Given the description of an element on the screen output the (x, y) to click on. 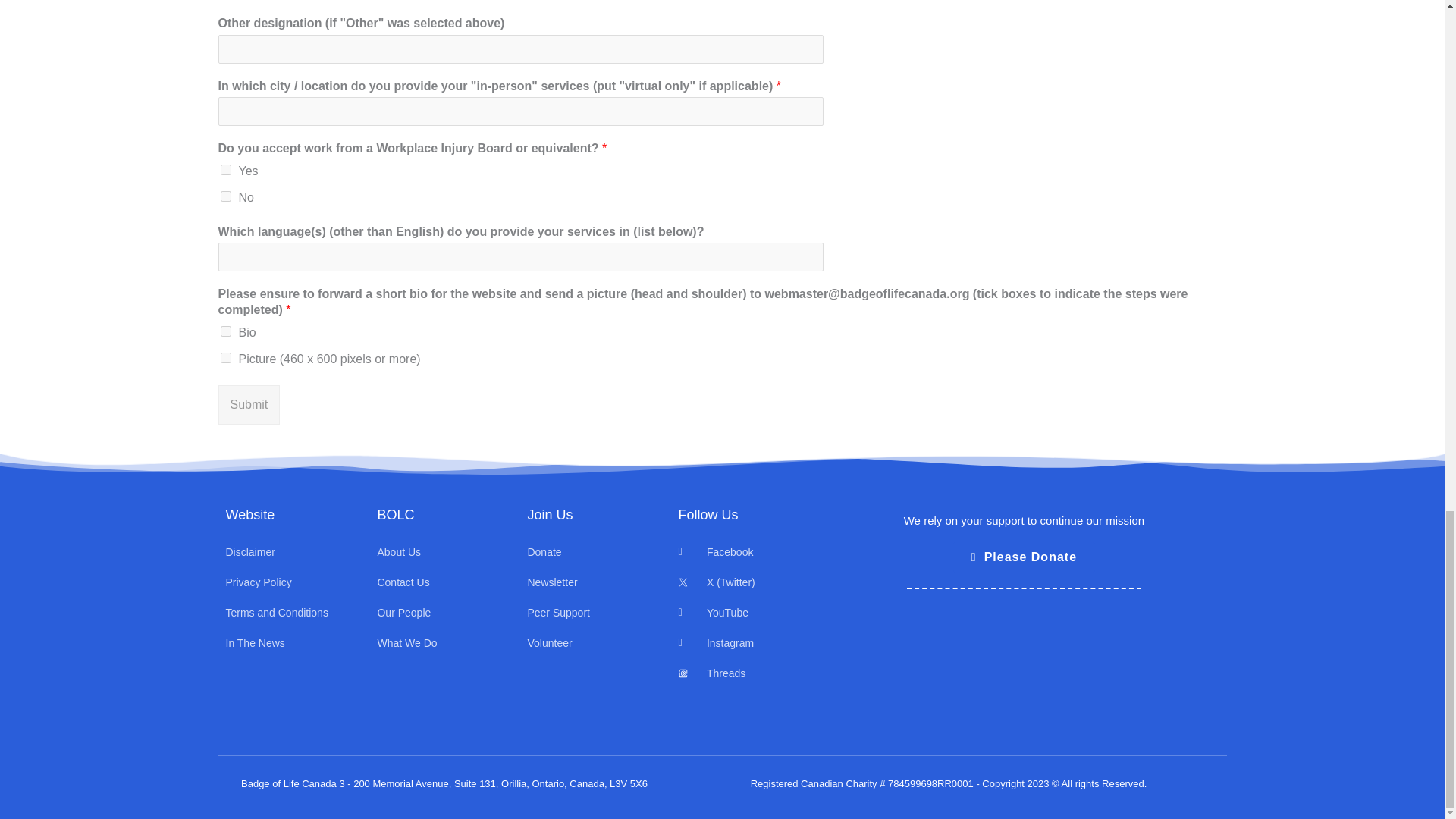
No (224, 195)
Yes (224, 169)
Bio (224, 330)
